Given the description of an element on the screen output the (x, y) to click on. 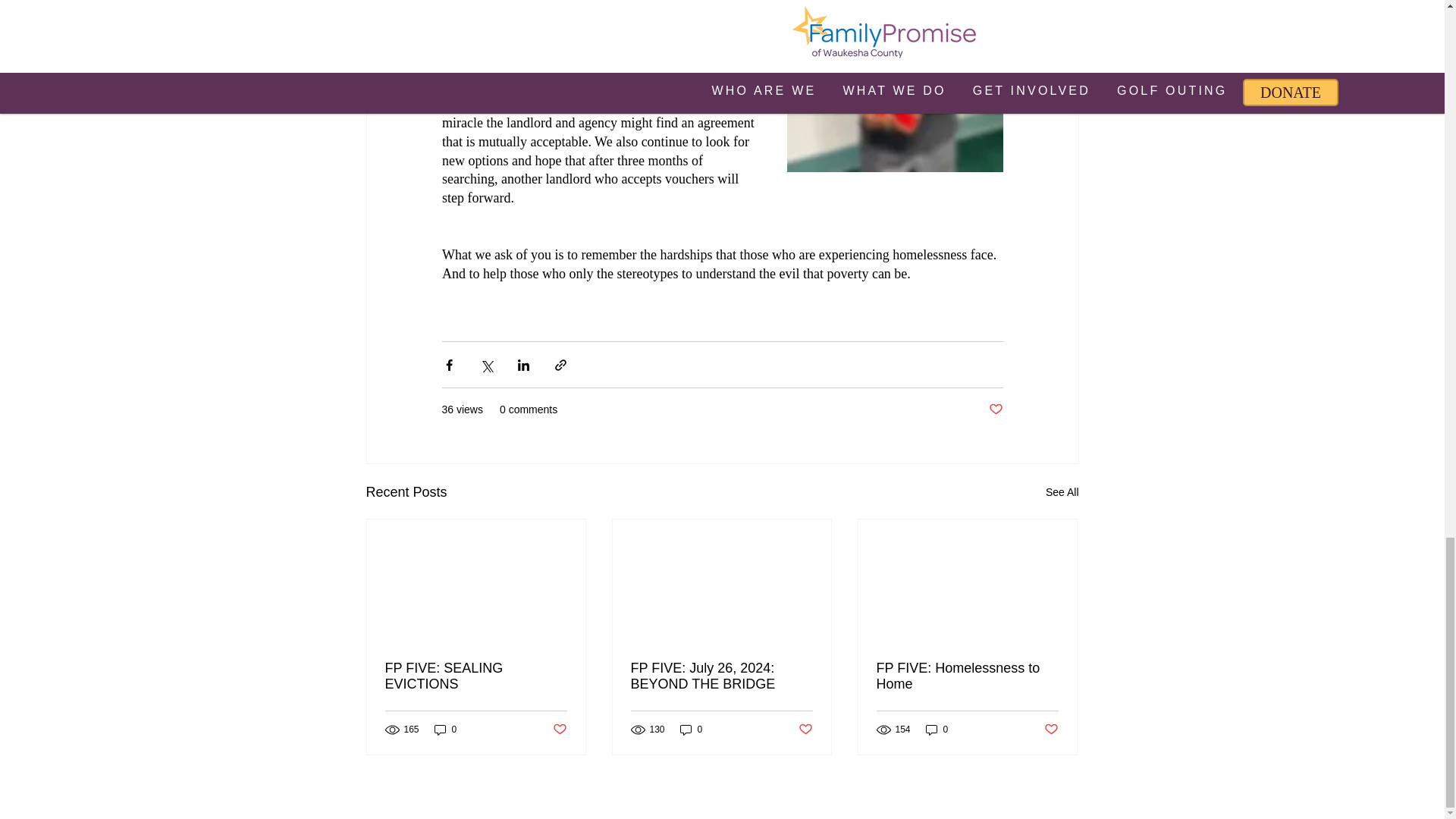
FP FIVE: SEALING EVICTIONS (476, 676)
0 (445, 729)
0 (691, 729)
FP FIVE: July 26, 2024: BEYOND THE BRIDGE (721, 676)
See All (1061, 492)
Post not marked as liked (995, 409)
Post not marked as liked (558, 729)
